Given the description of an element on the screen output the (x, y) to click on. 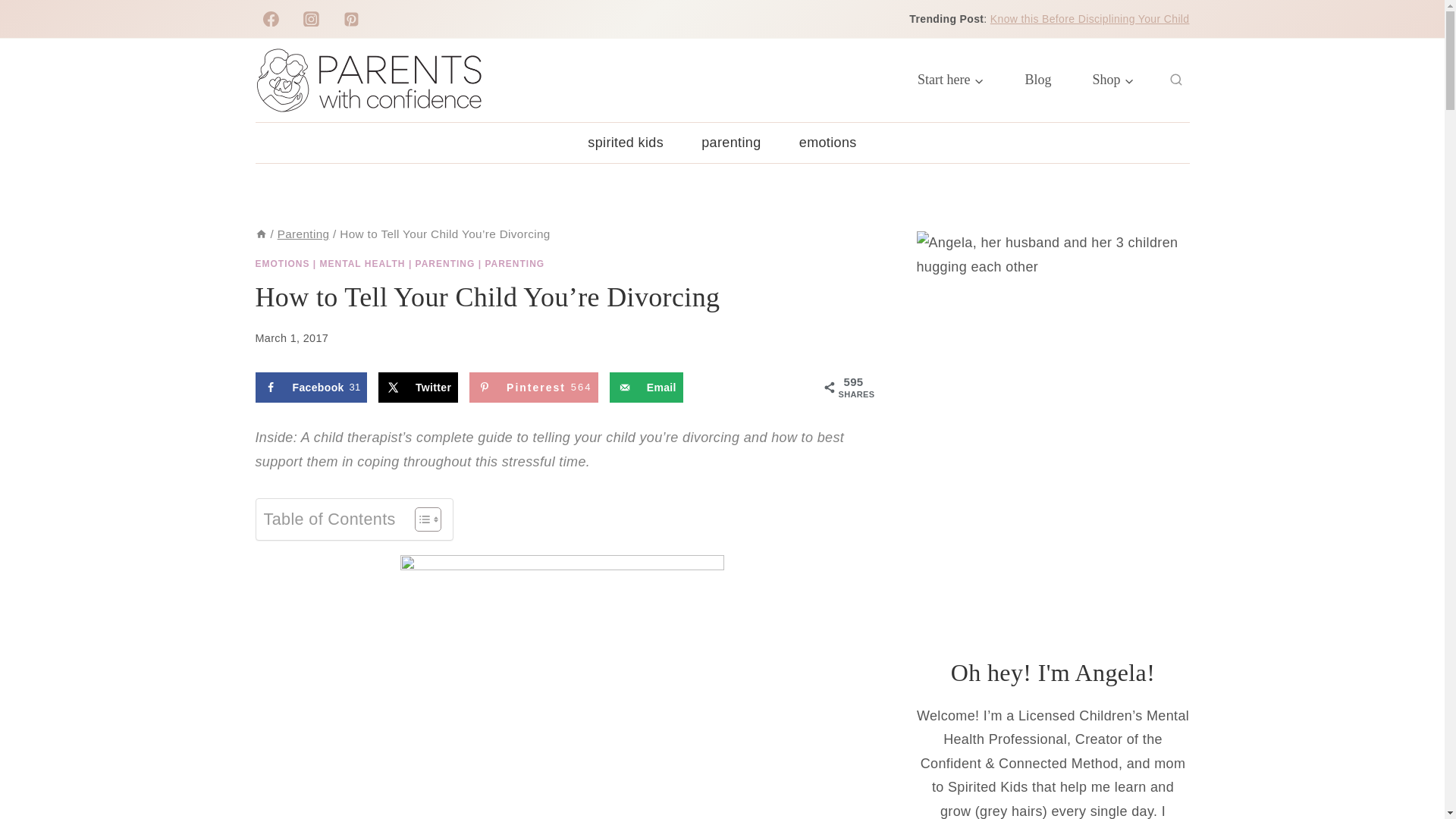
Blog (1037, 80)
Share on Facebook (310, 387)
Shop (1112, 80)
emotions (828, 142)
Twitter (418, 387)
Save to Pinterest (533, 387)
Know this Before Disciplining Your Child (1089, 19)
Parenting (304, 233)
spirited kids (310, 387)
